Given the description of an element on the screen output the (x, y) to click on. 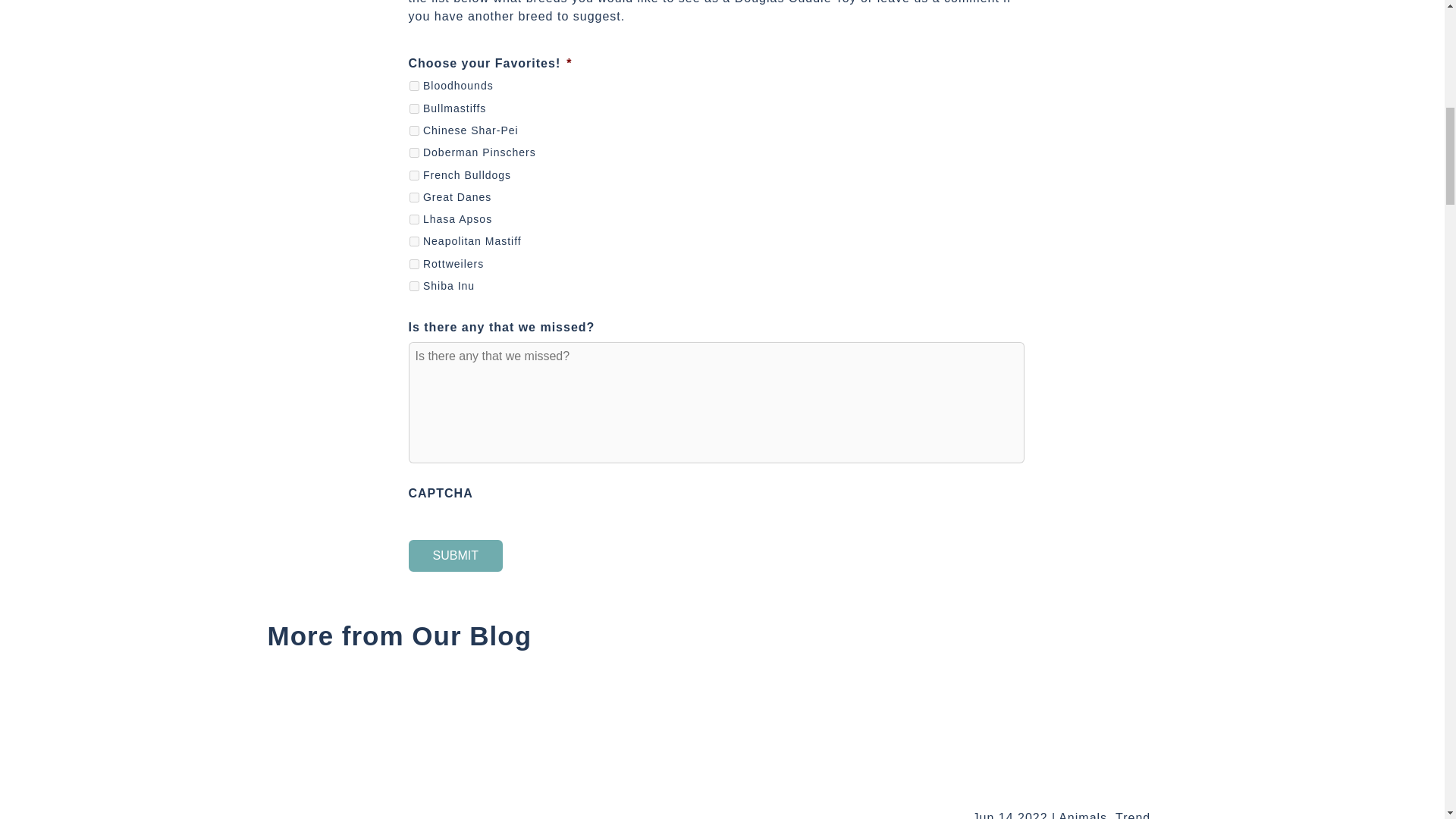
Submit (454, 555)
Bloodhounds (414, 85)
Chinese Shar-Pei (414, 130)
Rottweilers (414, 264)
Shiba Inu (414, 286)
Great Danes (414, 197)
Lhasa Apsos (414, 219)
Doberman Pinschers (414, 153)
Bullmastiffs (414, 108)
French Bulldogs (414, 175)
Neapolitan Mastiff (414, 241)
